Given the description of an element on the screen output the (x, y) to click on. 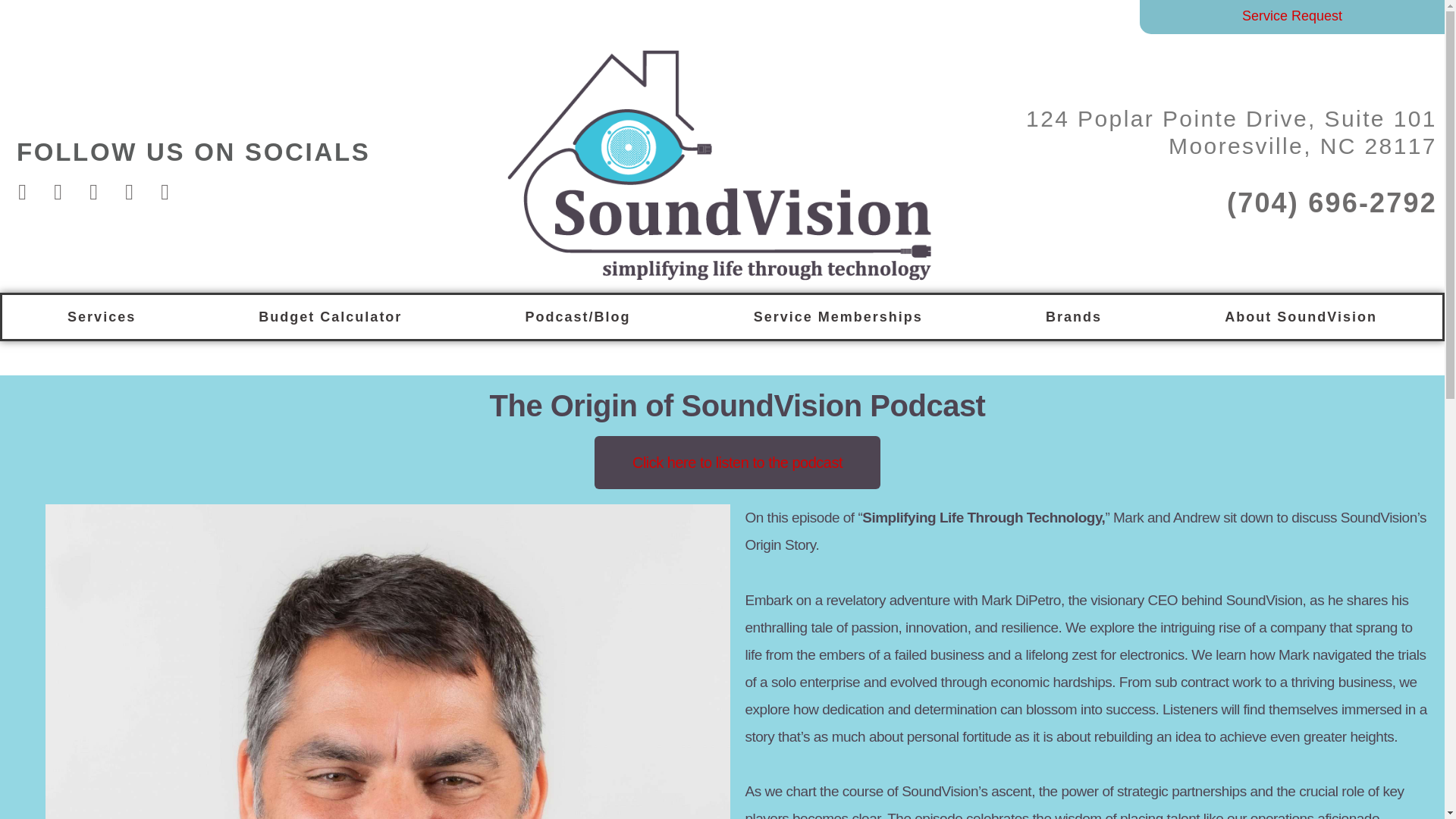
About SoundVision (1300, 316)
Budget Calculator (329, 316)
Brands (1073, 316)
Services (100, 316)
Service Memberships (838, 316)
